Given the description of an element on the screen output the (x, y) to click on. 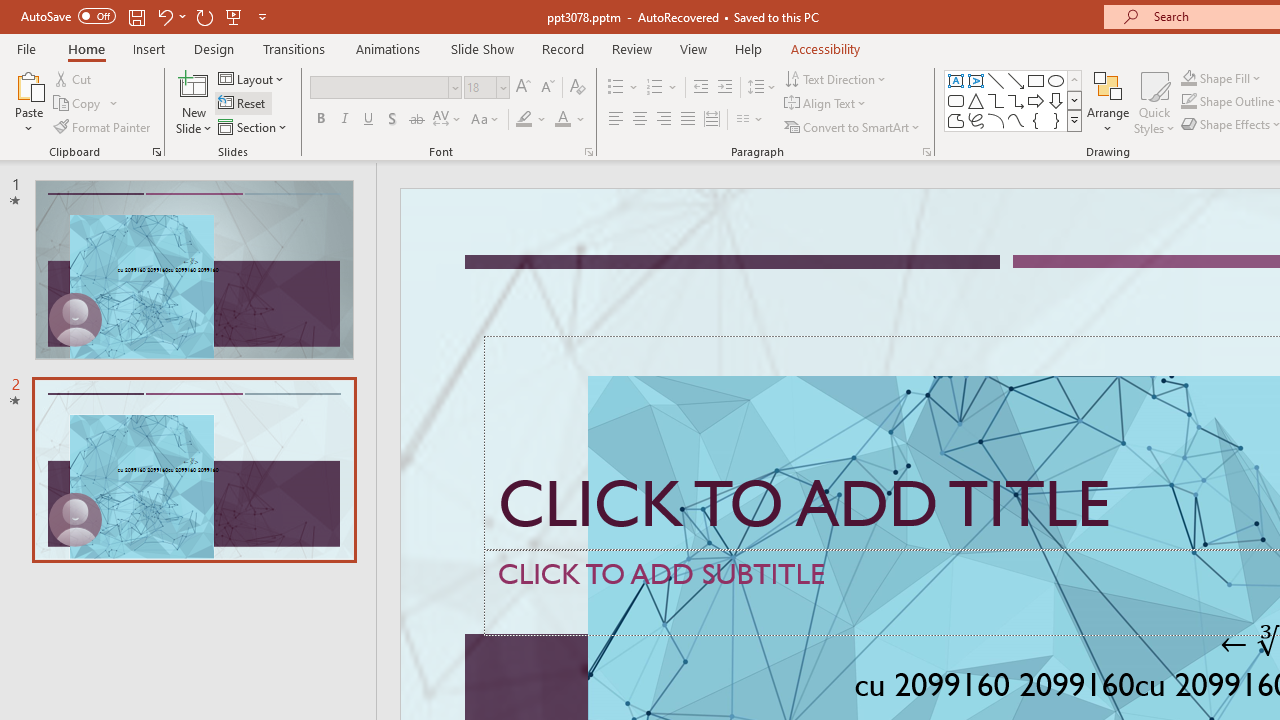
Shape Outline Green, Accent 1 (1188, 101)
